Given the description of an element on the screen output the (x, y) to click on. 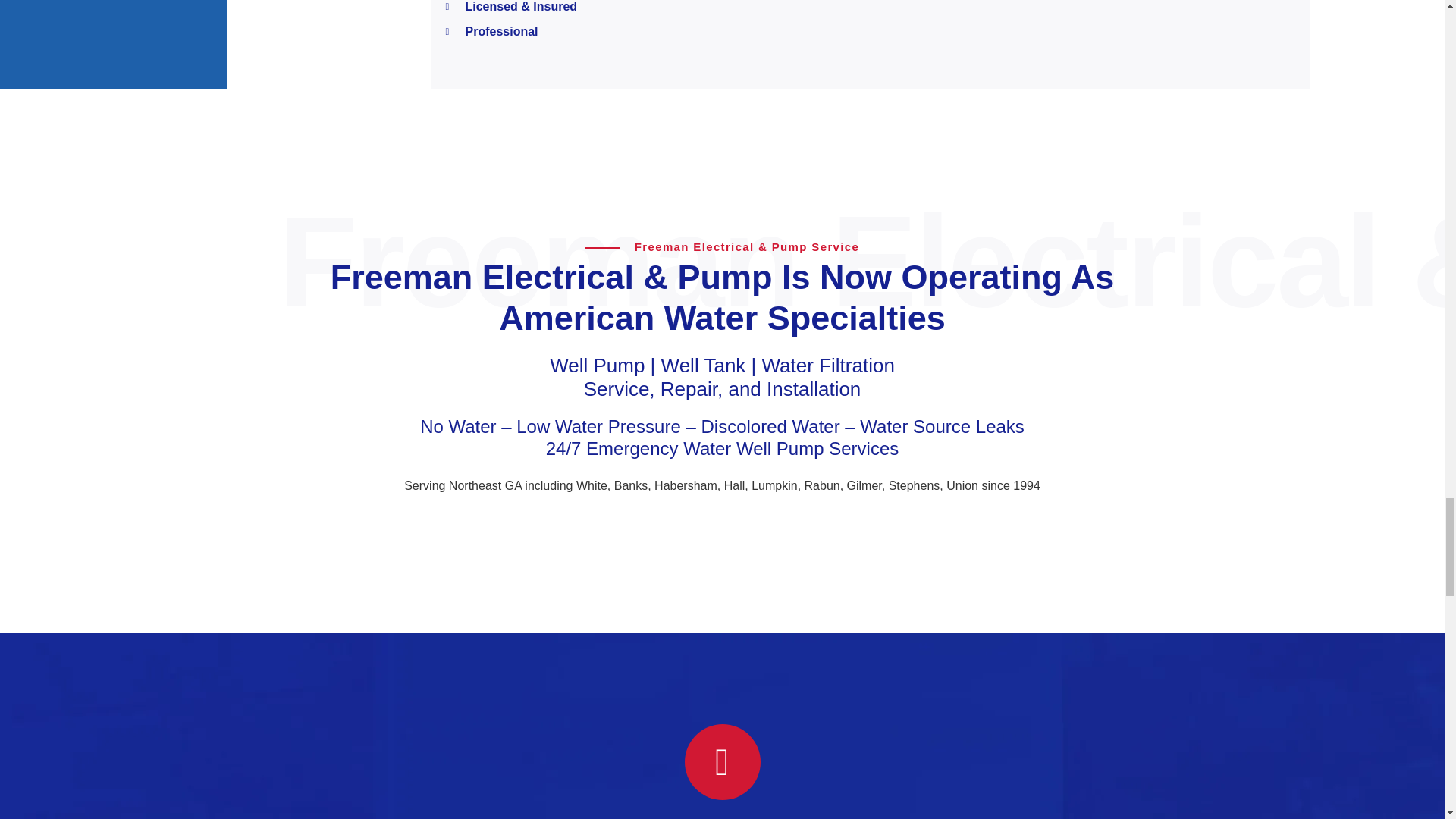
Home American Water Specialties (747, 533)
Home American Water Specialties (696, 533)
